Given the description of an element on the screen output the (x, y) to click on. 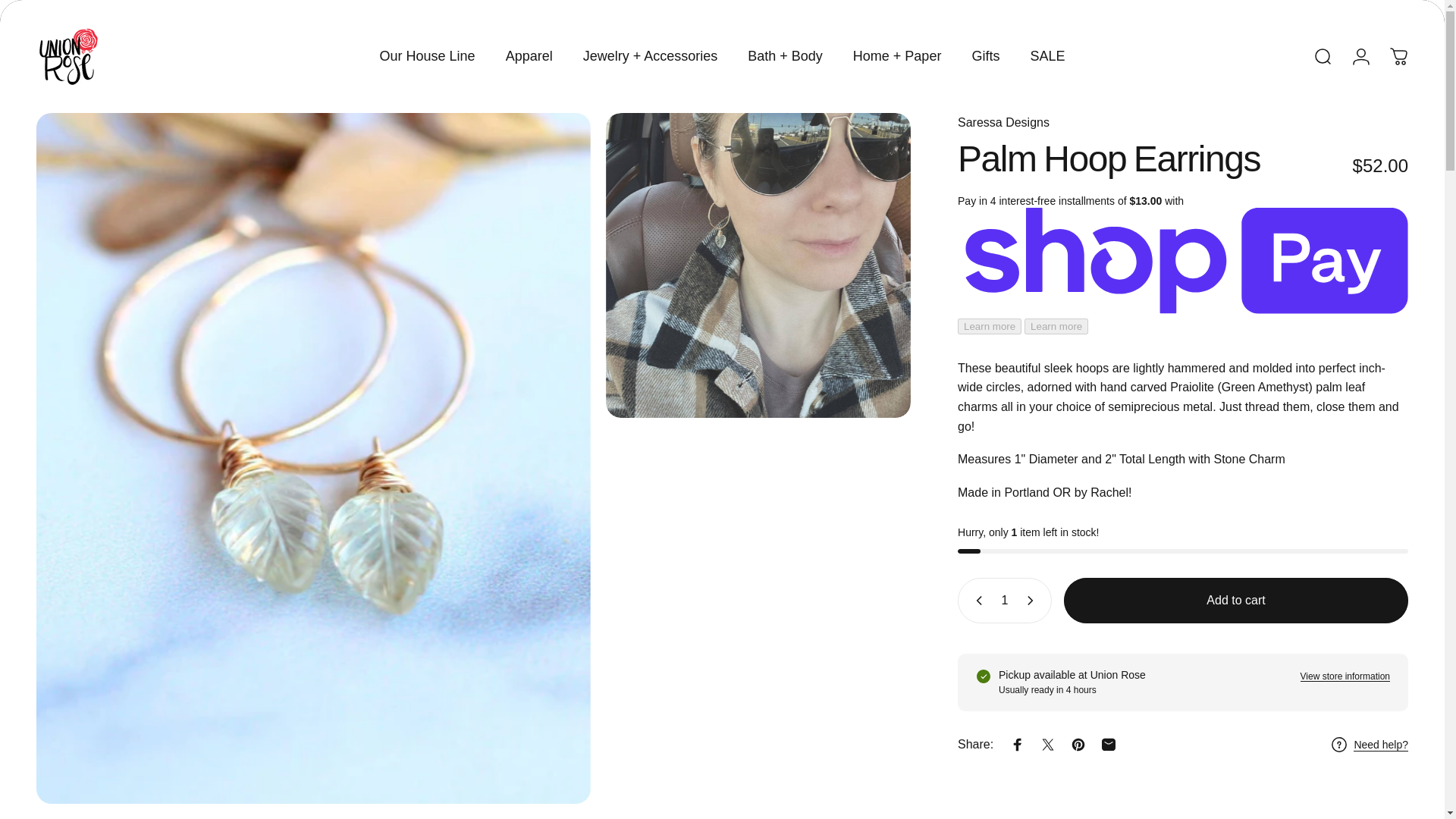
UnionRose on Instagram (76, 7)
Tweet on Twitter (1047, 744)
Instagram (76, 7)
UnionRose on Facebook (43, 7)
Saressa Designs (1003, 122)
Pin on Pinterest (1077, 744)
Share on Facebook (1017, 744)
Share by Email (1108, 744)
Facebook (43, 7)
